Given the description of an element on the screen output the (x, y) to click on. 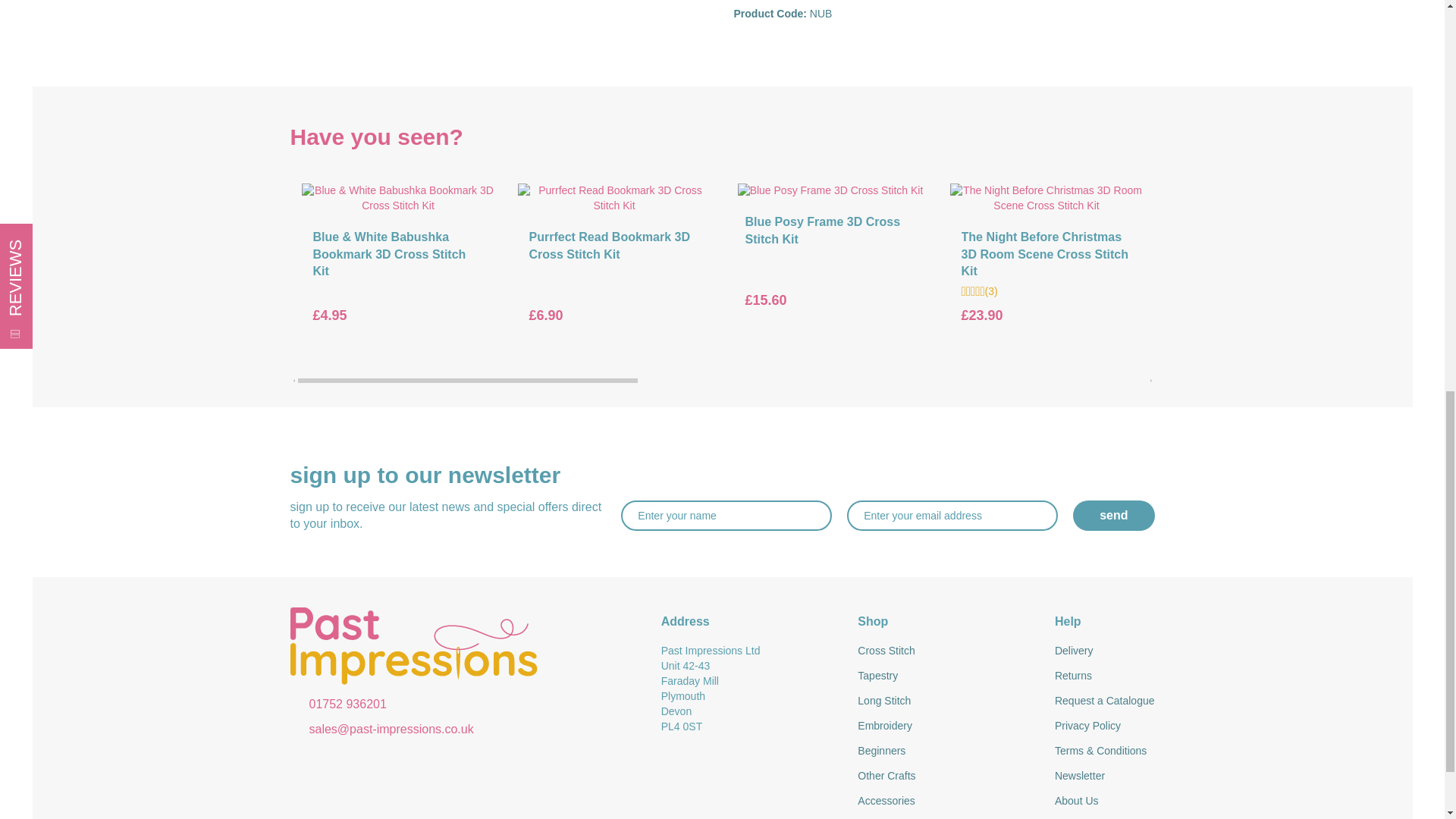
Newsletter (1104, 776)
Accessories (944, 801)
Tapestry (944, 676)
Long Stitch (944, 701)
Beginners (944, 751)
Returns (1104, 676)
About Us (1104, 801)
Privacy Policy (1104, 726)
Other Crafts (944, 776)
Embroidery (944, 726)
